Given the description of an element on the screen output the (x, y) to click on. 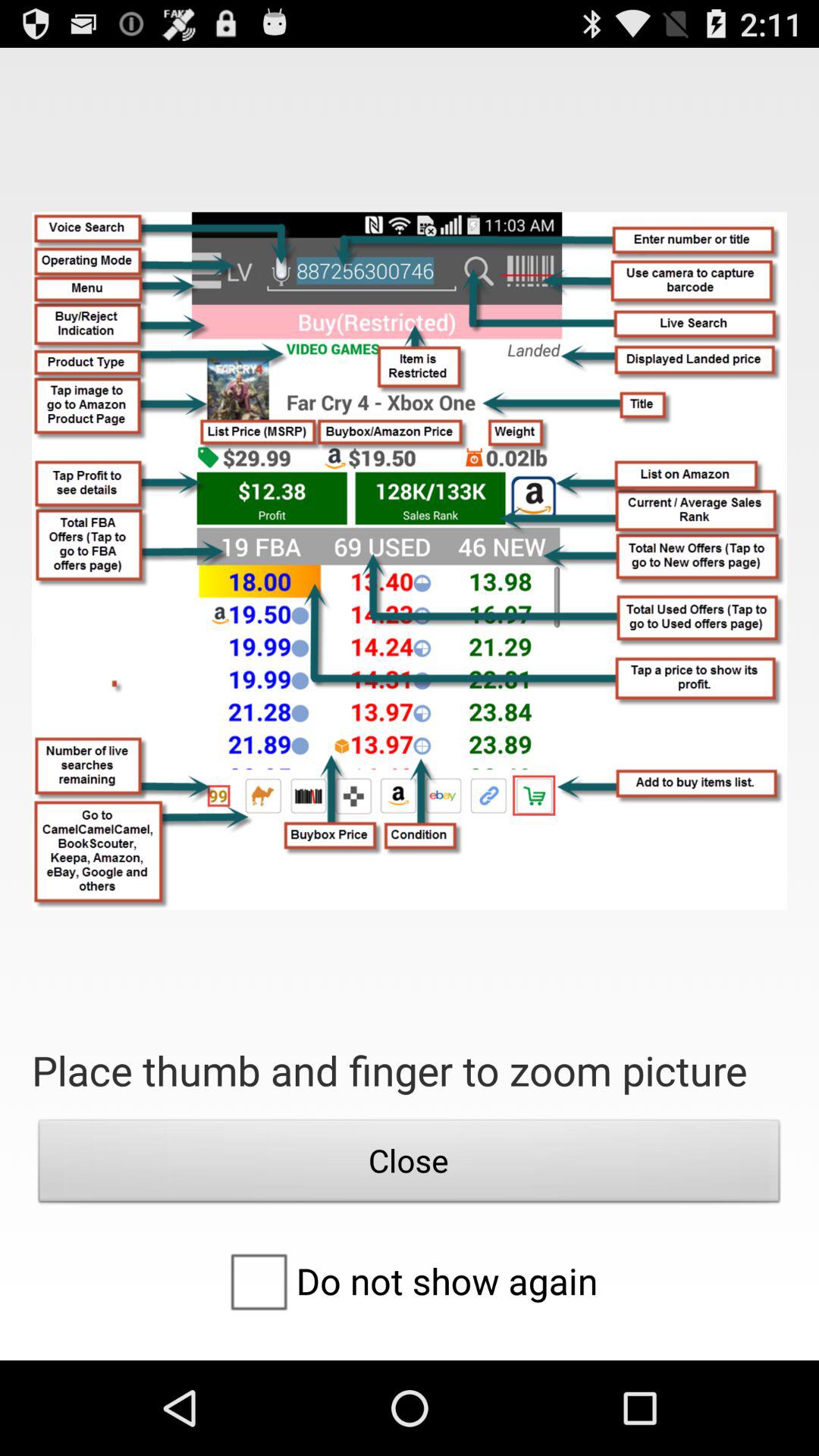
open item above place thumb and (409, 560)
